Given the description of an element on the screen output the (x, y) to click on. 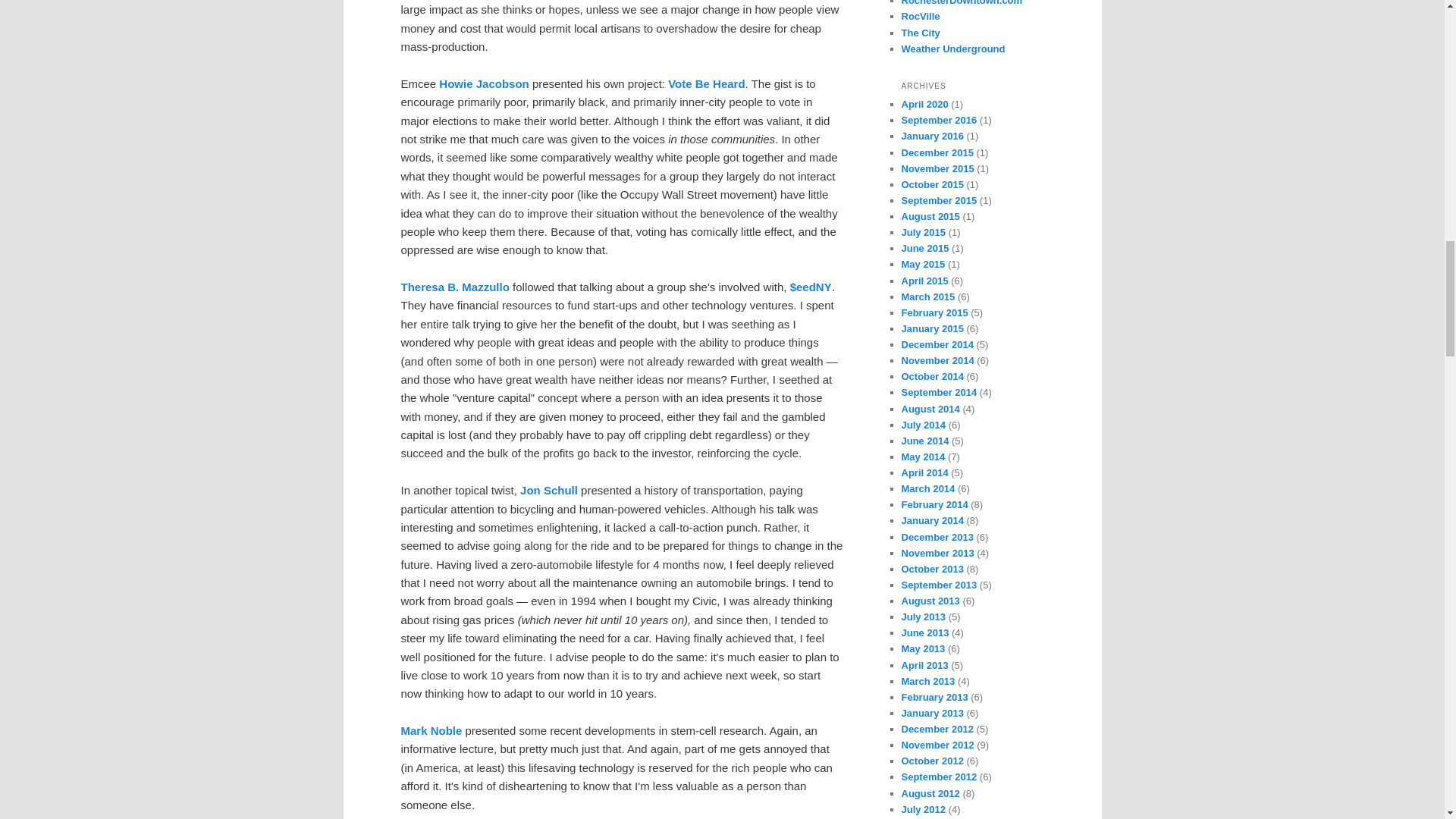
Howie Jacobson (483, 83)
Theresa B. Mazzullo (454, 286)
Vote Be Heard (706, 83)
A weekly alternative-press newspaper for Rochester. (920, 32)
Mark Noble (430, 730)
Jon Schull (548, 490)
